Given the description of an element on the screen output the (x, y) to click on. 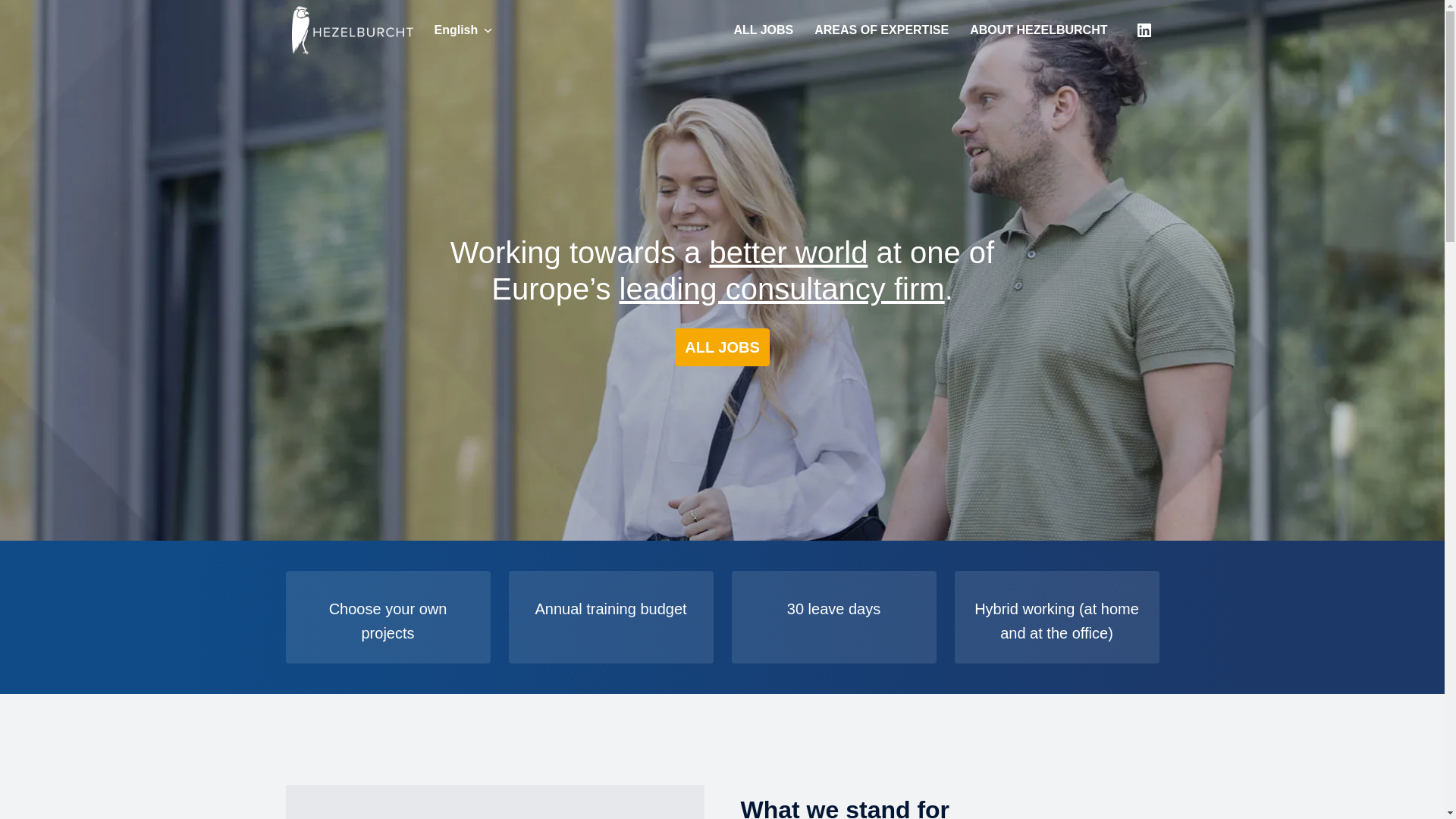
ABOUT HEZELBURCHT (1038, 30)
Homepage (352, 30)
linkedin (1143, 30)
AREAS OF EXPERTISE (881, 30)
English (462, 30)
ALL JOBS (762, 30)
ALL JOBS (722, 347)
